Given the description of an element on the screen output the (x, y) to click on. 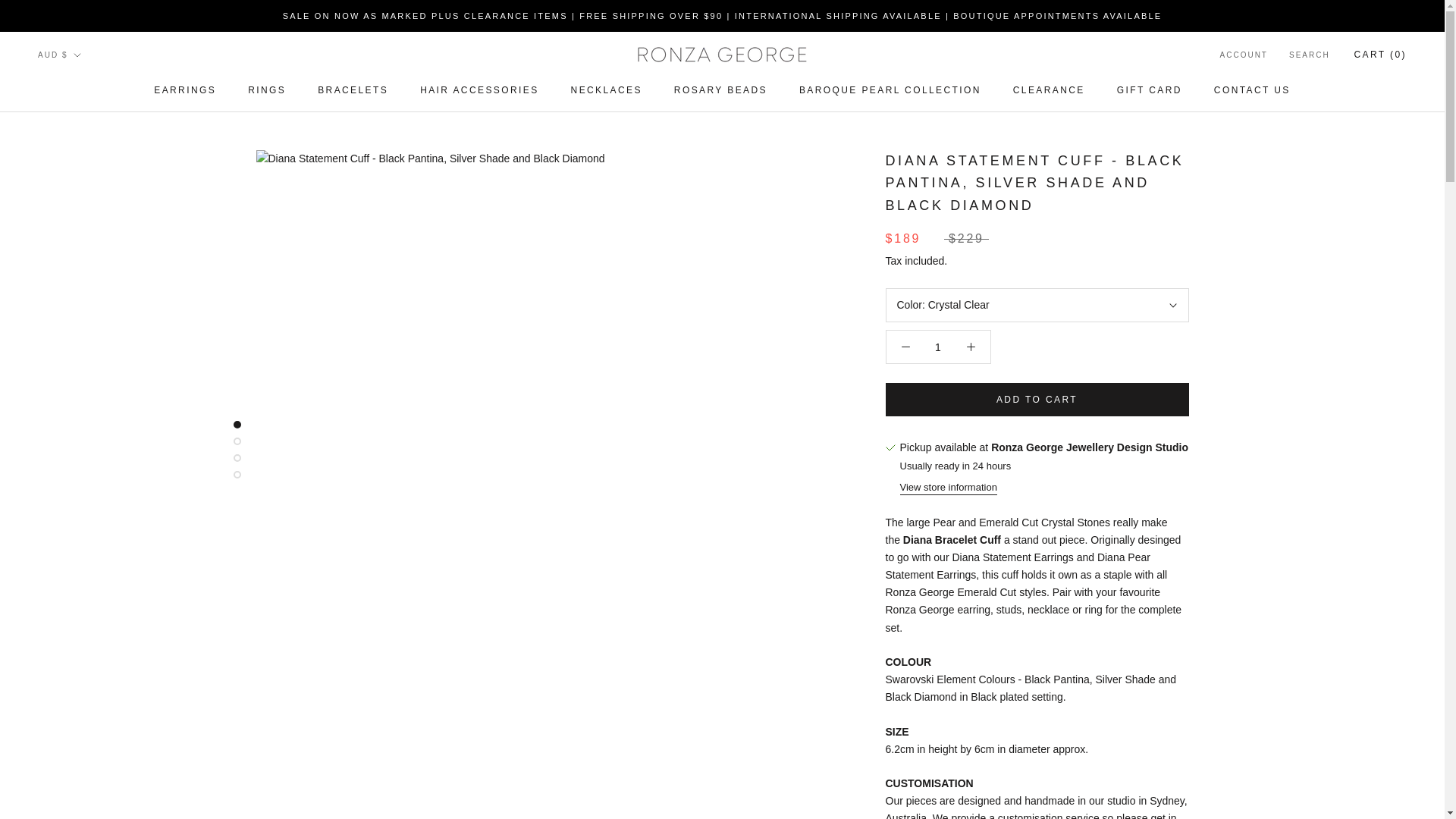
1 (938, 346)
